Given the description of an element on the screen output the (x, y) to click on. 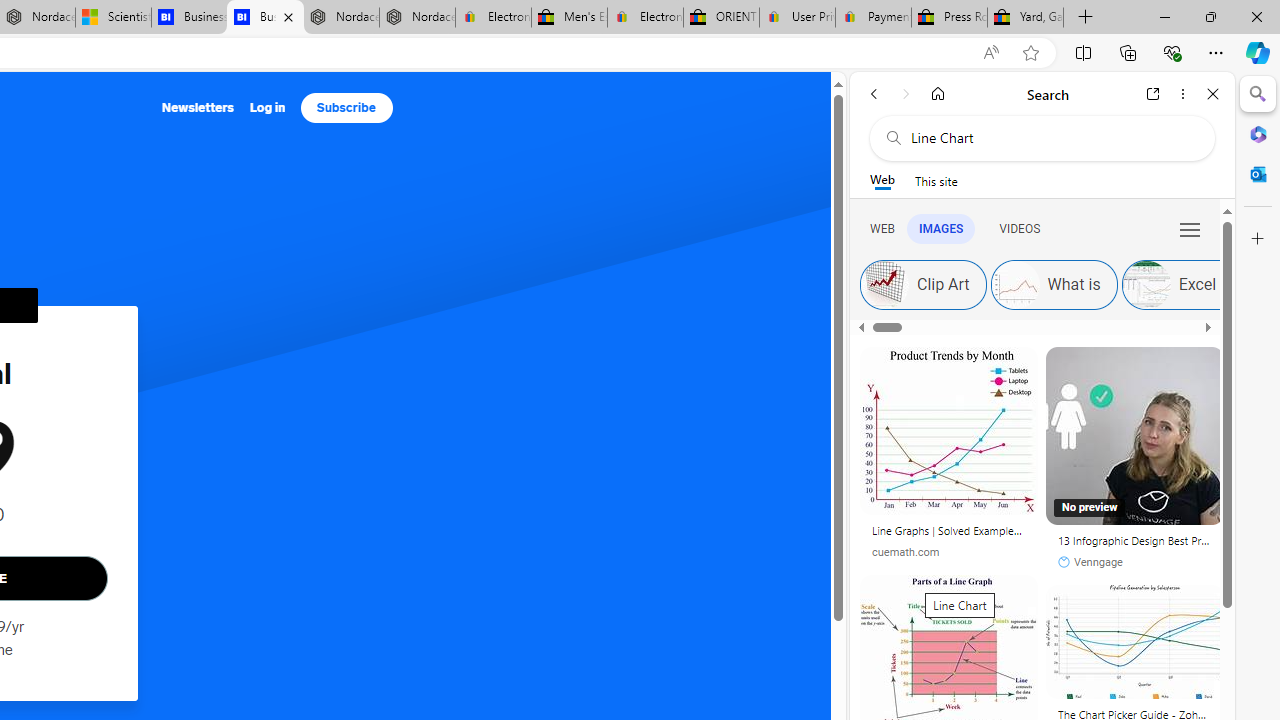
Electronics, Cars, Fashion, Collectibles & More | eBay (645, 17)
Open link in new tab (1153, 93)
Search the web (1051, 137)
Clip Art (884, 284)
Subscribe (345, 107)
Image result for Line Chart (1134, 641)
WEB (882, 228)
What is (1053, 284)
Press Room - eBay Inc. (948, 17)
Newsletters (198, 107)
Minimize Search pane (1258, 94)
